Given the description of an element on the screen output the (x, y) to click on. 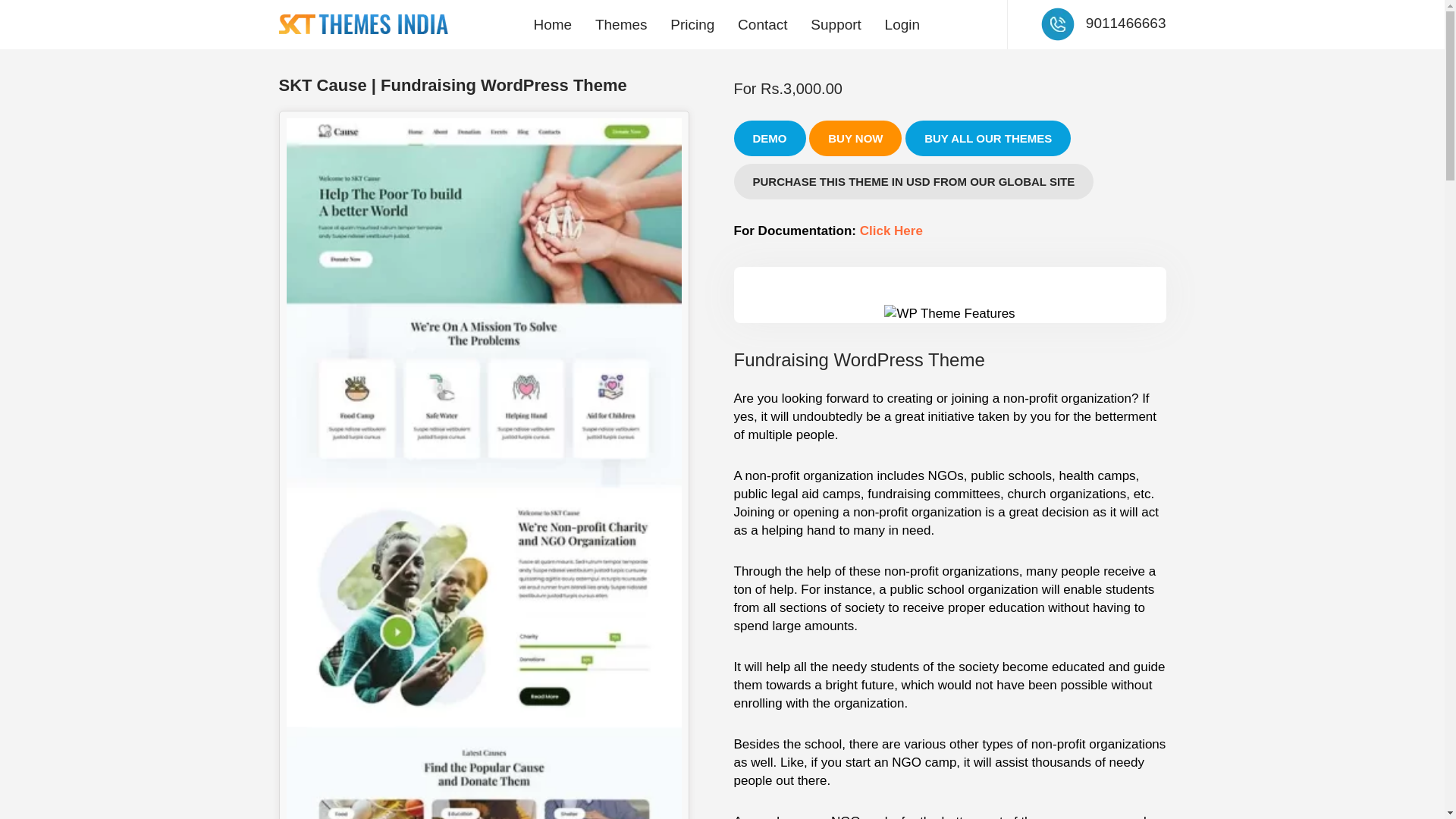
9011466663 (1126, 23)
BUY ALL OUR THEMES (987, 138)
Support (835, 24)
Pricing (692, 24)
Contact (762, 24)
Home (551, 24)
Themes (621, 24)
DEMO (769, 138)
BUY NOW (855, 138)
Click Here (891, 230)
